Given the description of an element on the screen output the (x, y) to click on. 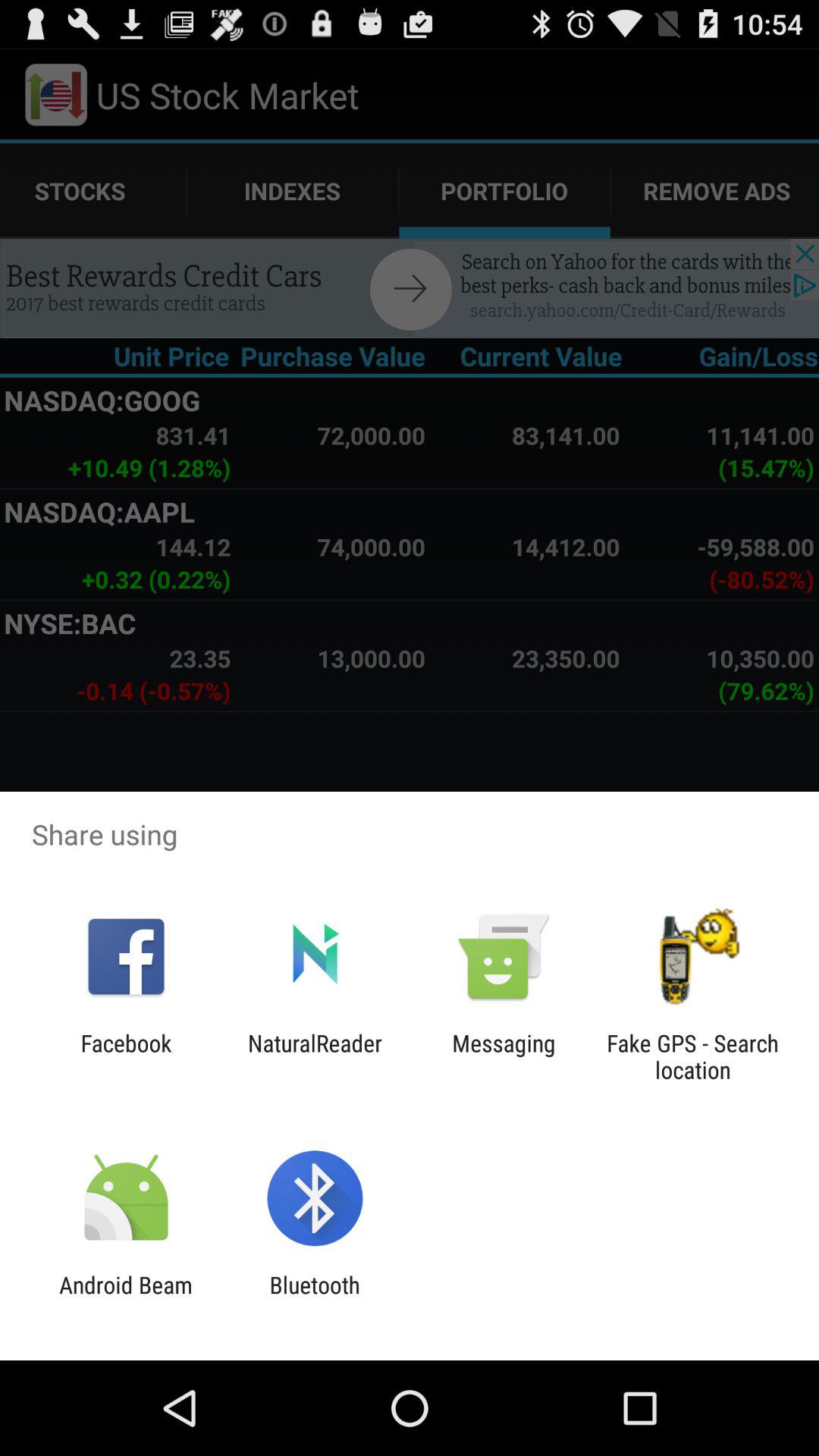
flip until facebook icon (125, 1056)
